Given the description of an element on the screen output the (x, y) to click on. 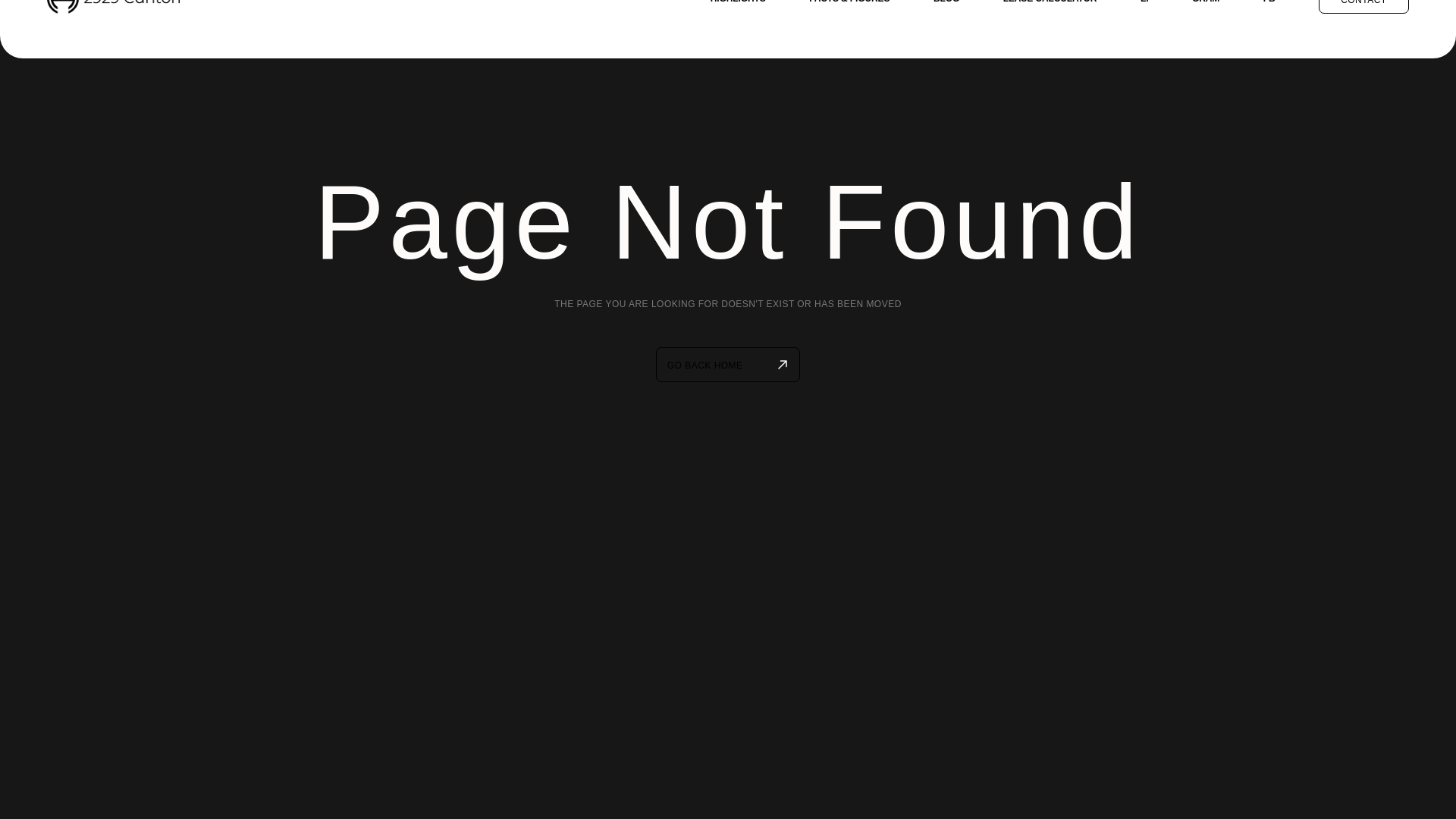
GO BACK HOME Element type: text (727, 364)
